Given the description of an element on the screen output the (x, y) to click on. 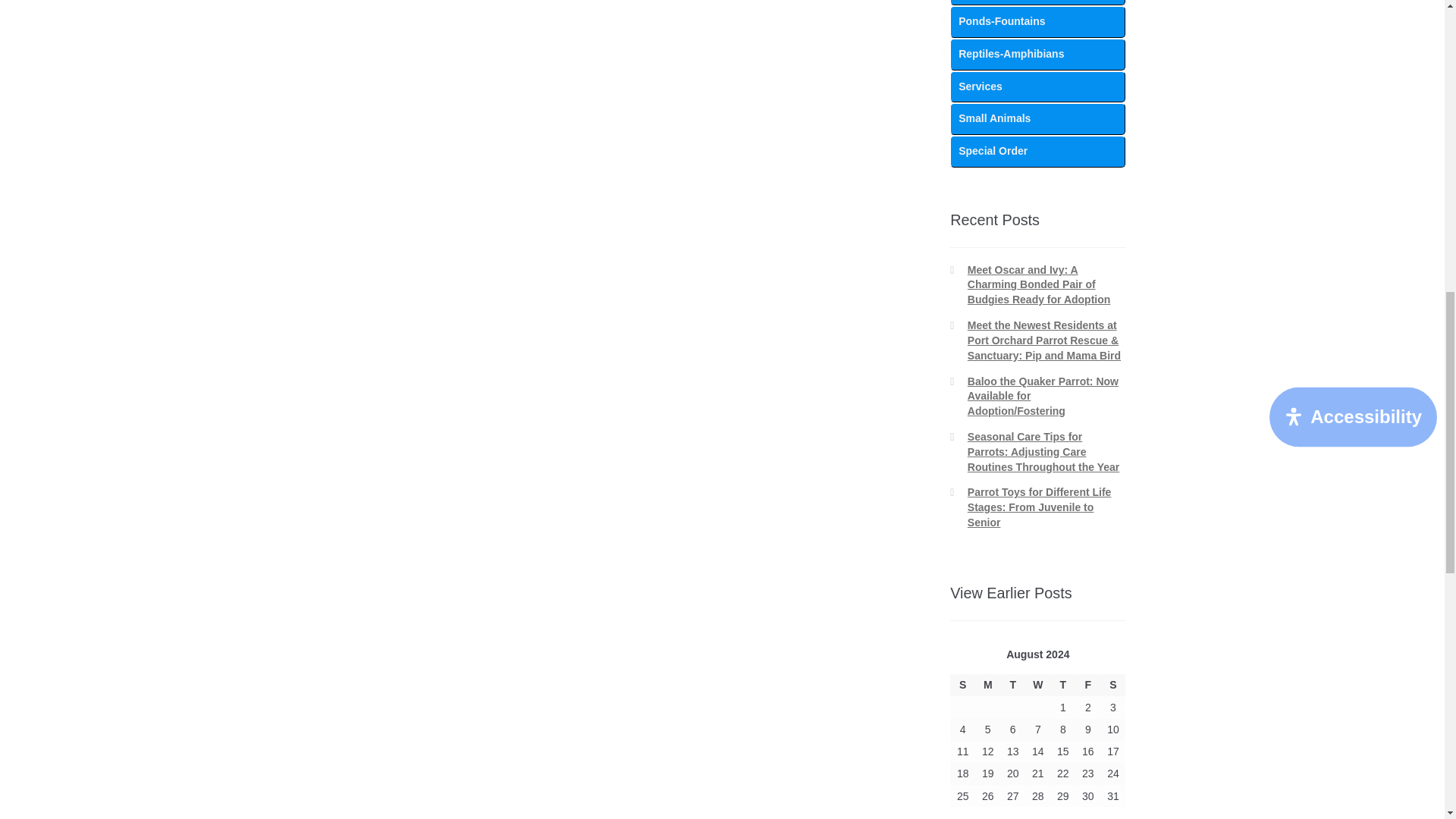
Wednesday (1037, 685)
Monday (987, 685)
Saturday (1112, 685)
Friday (1087, 685)
Sunday (962, 685)
Thursday (1062, 685)
Tuesday (1012, 685)
